Given the description of an element on the screen output the (x, y) to click on. 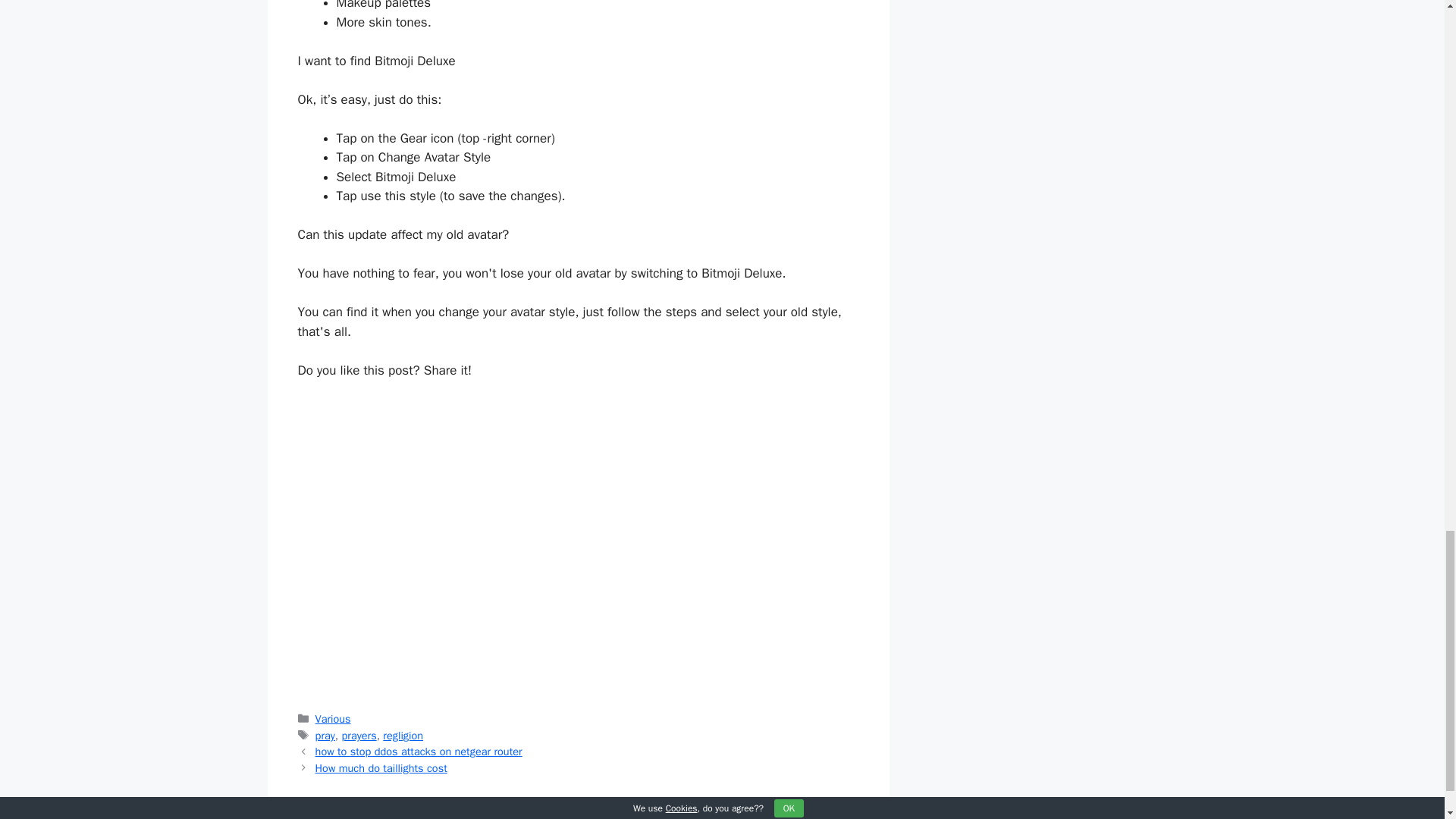
How much do taillights cost (380, 767)
prayers (359, 735)
pray (324, 735)
regligion (402, 735)
Various (332, 718)
how to stop ddos attacks on netgear router (418, 751)
Previous (418, 751)
Next (380, 767)
